Given the description of an element on the screen output the (x, y) to click on. 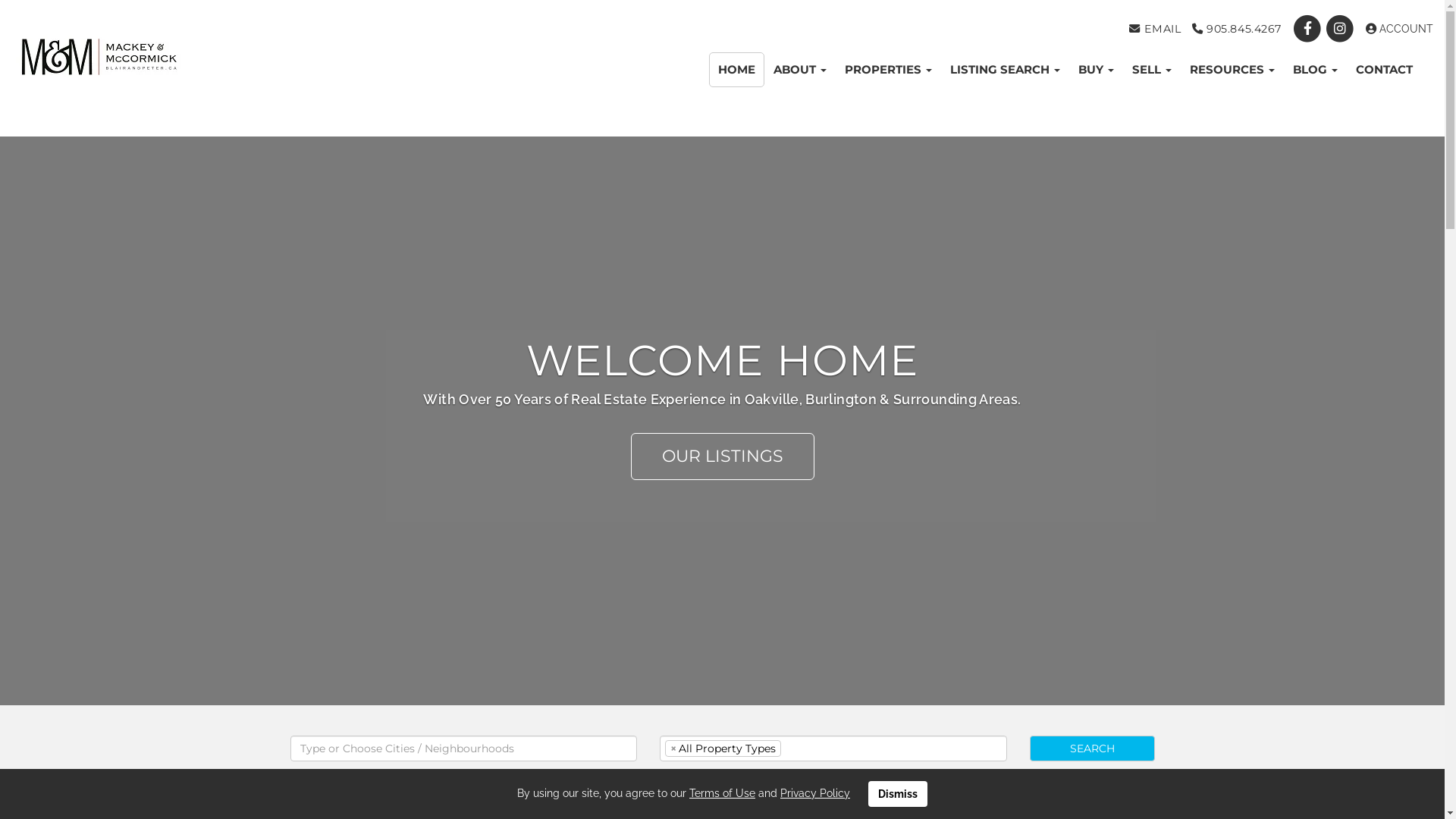
PROPERTIES Element type: text (888, 69)
HOME Element type: text (736, 69)
ABOUT Element type: text (799, 69)
Privacy Policy Element type: text (815, 793)
Dismiss Element type: text (897, 793)
CONTACT Element type: text (1383, 69)
OUR LISTINGS Element type: text (722, 456)
LISTING SEARCH Element type: text (1005, 69)
Select All Areas Element type: text (329, 777)
905.845.4267 Element type: text (1236, 28)
RESOURCES Element type: text (1231, 69)
Instagram Element type: hover (1341, 28)
SEARCH Element type: text (1091, 748)
ACCOUNT Element type: text (1399, 28)
SELL Element type: text (1151, 69)
Terms of Use Element type: text (722, 793)
Facebook Element type: hover (1308, 28)
BLOG Element type: text (1314, 69)
BUY Element type: text (1096, 69)
EMAIL Element type: text (1154, 28)
